Given the description of an element on the screen output the (x, y) to click on. 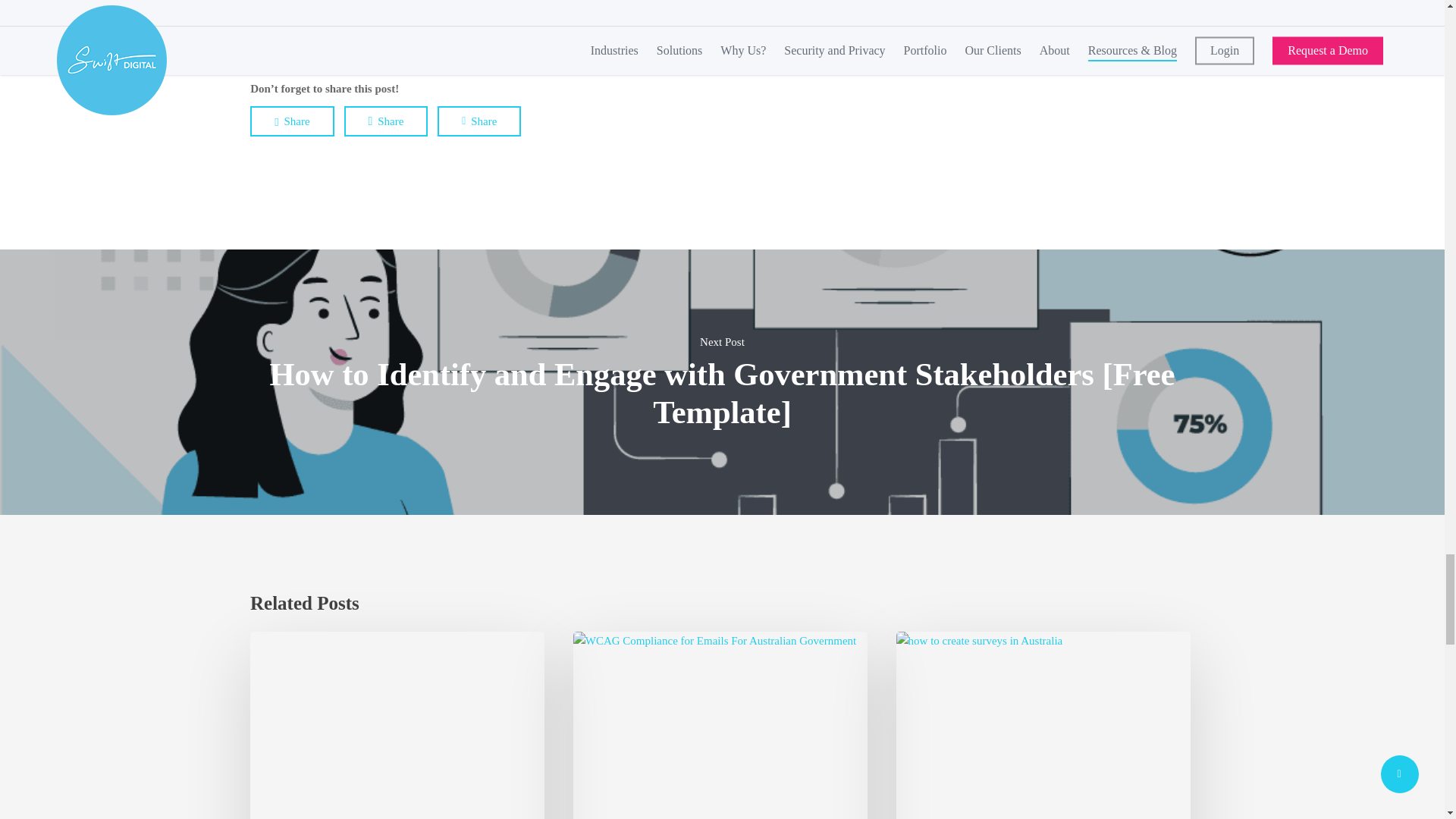
Share this (291, 121)
Share this (479, 121)
Share this (385, 121)
